Given the description of an element on the screen output the (x, y) to click on. 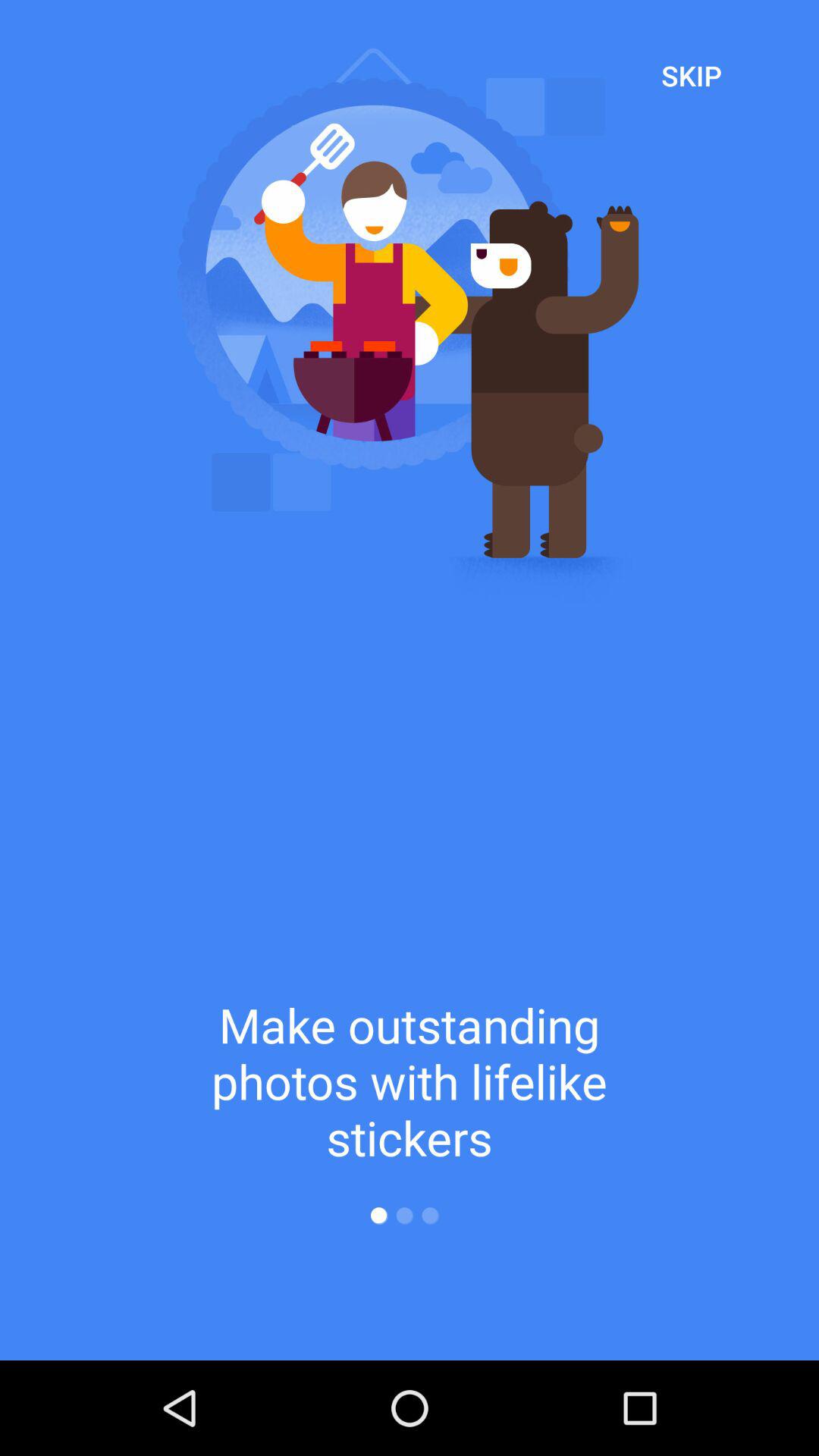
turn on the skip at the top right corner (691, 75)
